Given the description of an element on the screen output the (x, y) to click on. 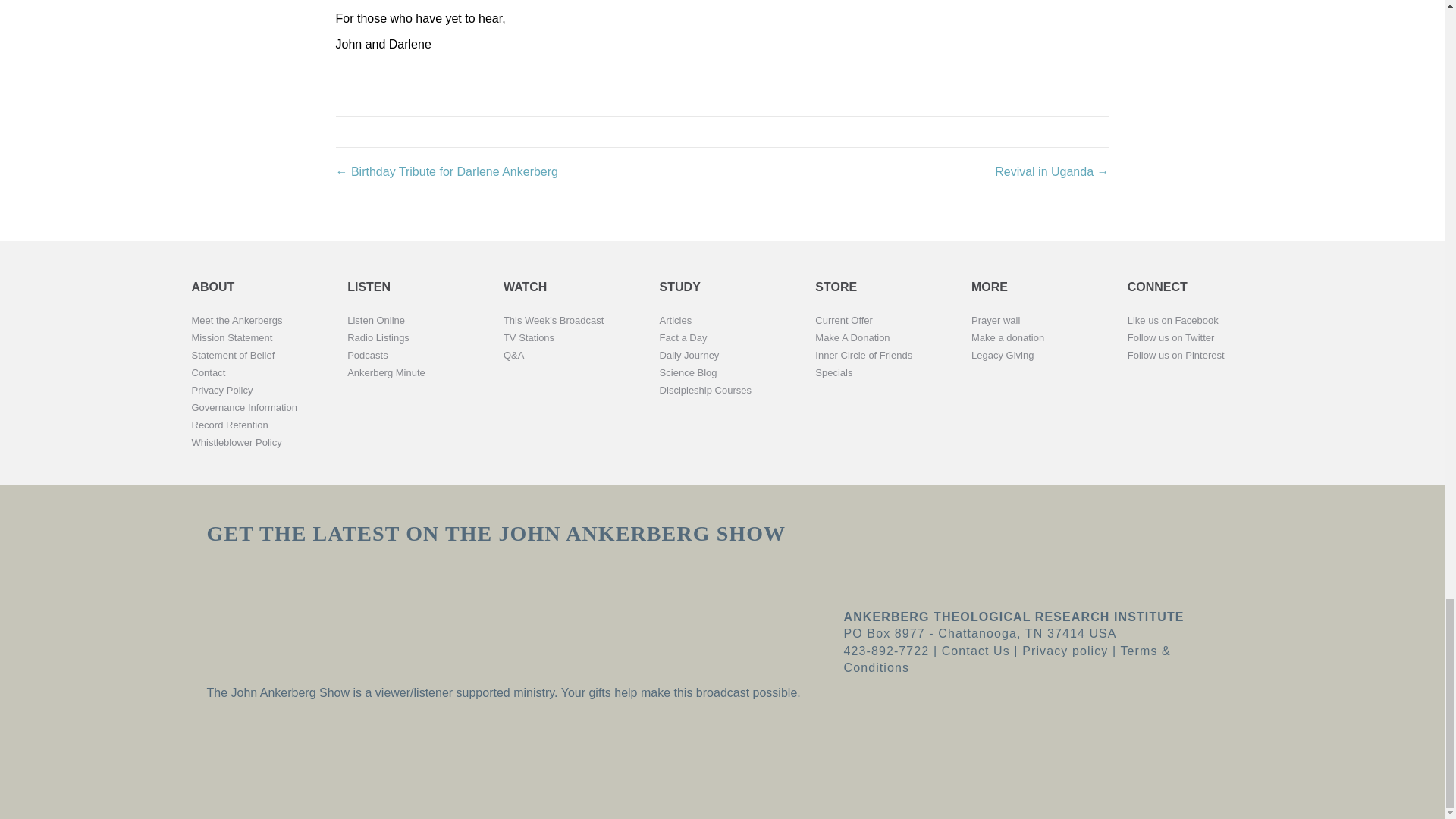
navigator (259, 750)
Scale-and-Words-Light-Face-PRUSSIAN-BLUE-Horizontal-2048x420 (1019, 556)
